Given the description of an element on the screen output the (x, y) to click on. 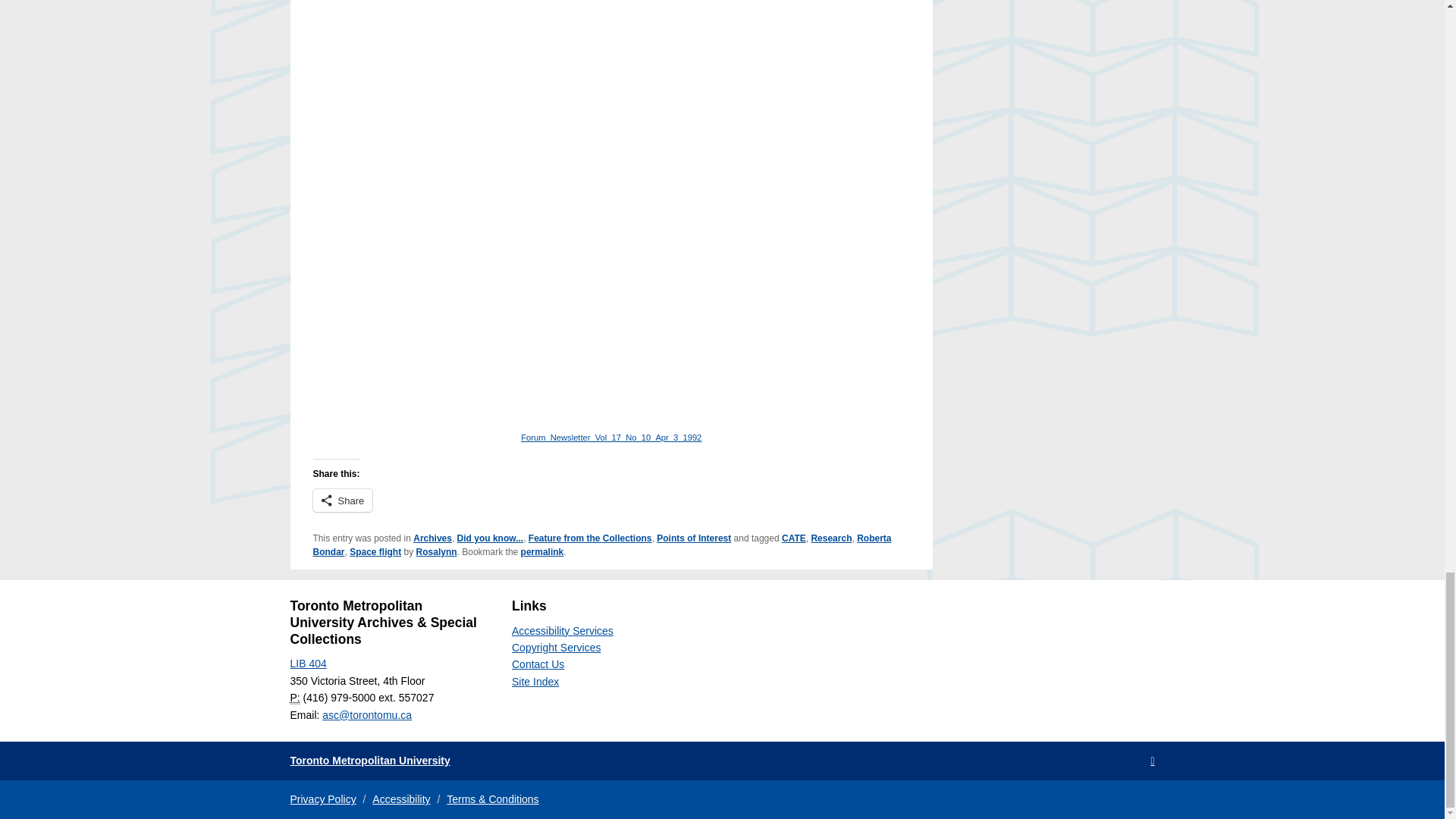
Share (342, 499)
